Given the description of an element on the screen output the (x, y) to click on. 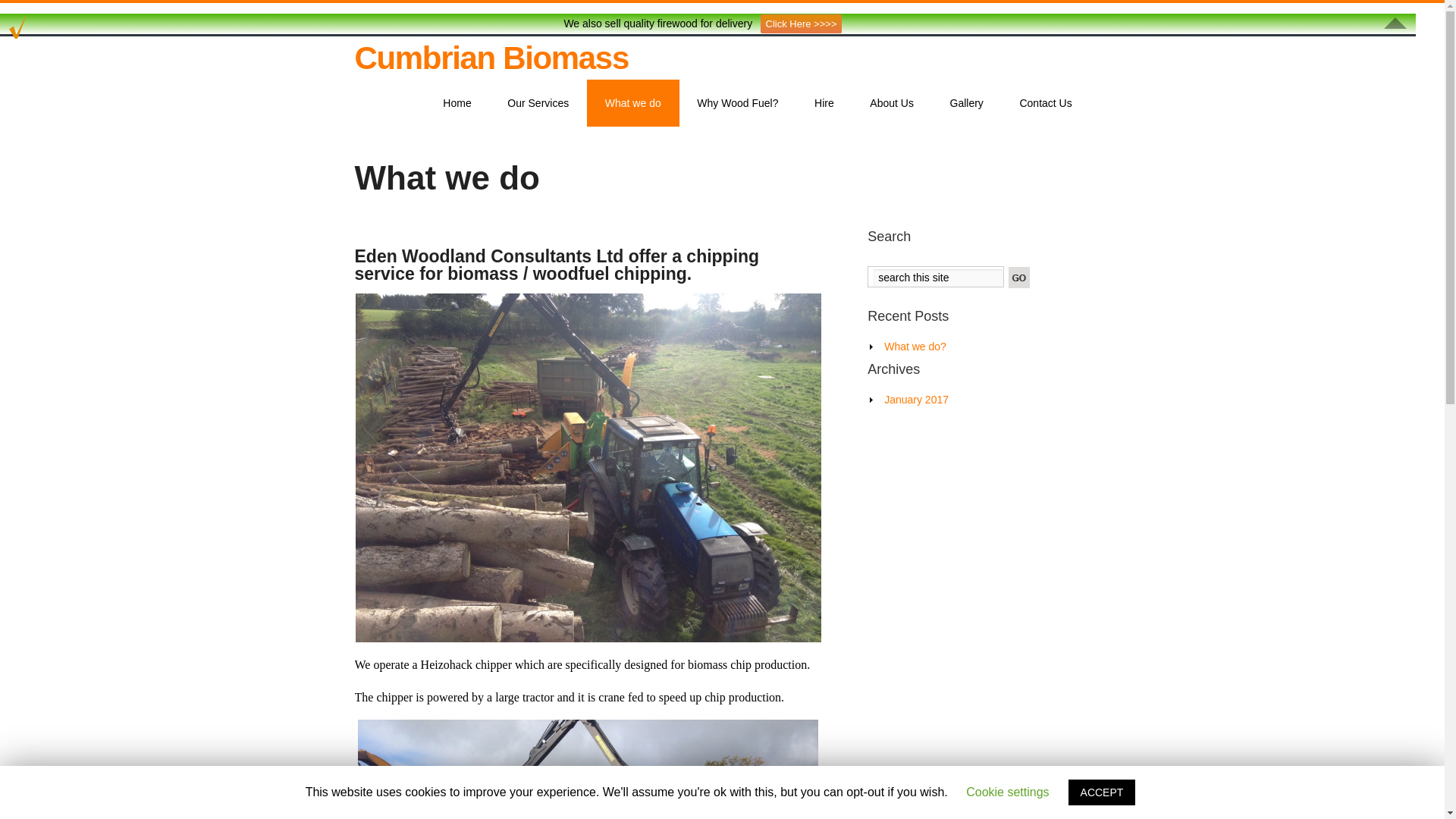
Home (457, 102)
Home (457, 102)
www.cumbrian-biomass.co.uk (491, 58)
Contact Us (1045, 102)
What we do? (914, 346)
Click Here (801, 23)
search this site (938, 277)
Gallery (966, 102)
Cookie settings (1007, 791)
Powered by Conversion Insights: Boost your online revenue. (18, 23)
Cumbrian Biomass (491, 58)
About Us (891, 102)
Our Services (537, 102)
Why Wood Fuel? (737, 102)
